Given the description of an element on the screen output the (x, y) to click on. 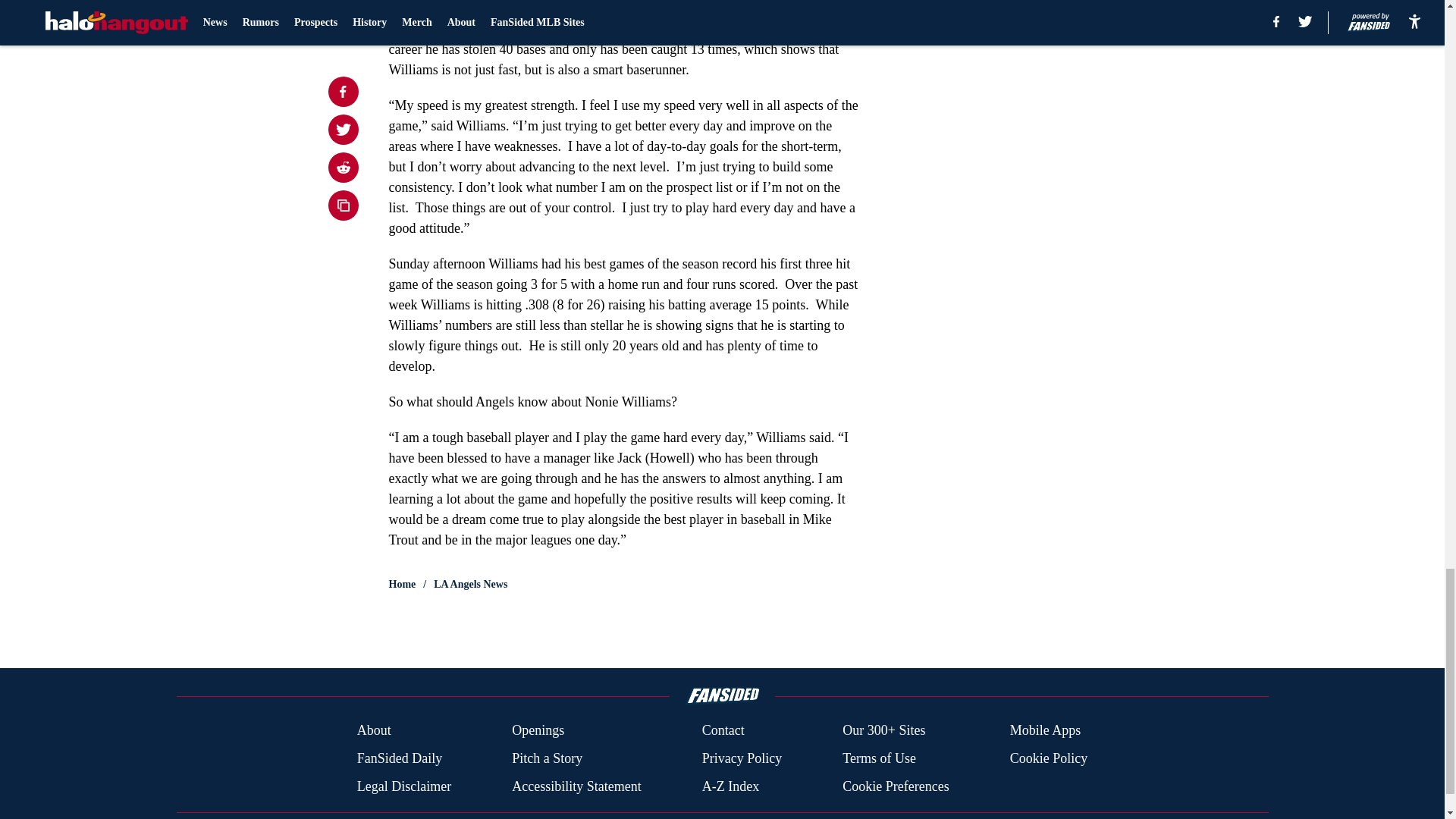
Contact (722, 730)
LA Angels News (469, 584)
About (373, 730)
Home (401, 584)
Mobile Apps (1045, 730)
Pitch a Story (547, 758)
FanSided Daily (399, 758)
Privacy Policy (742, 758)
Openings (538, 730)
